Given the description of an element on the screen output the (x, y) to click on. 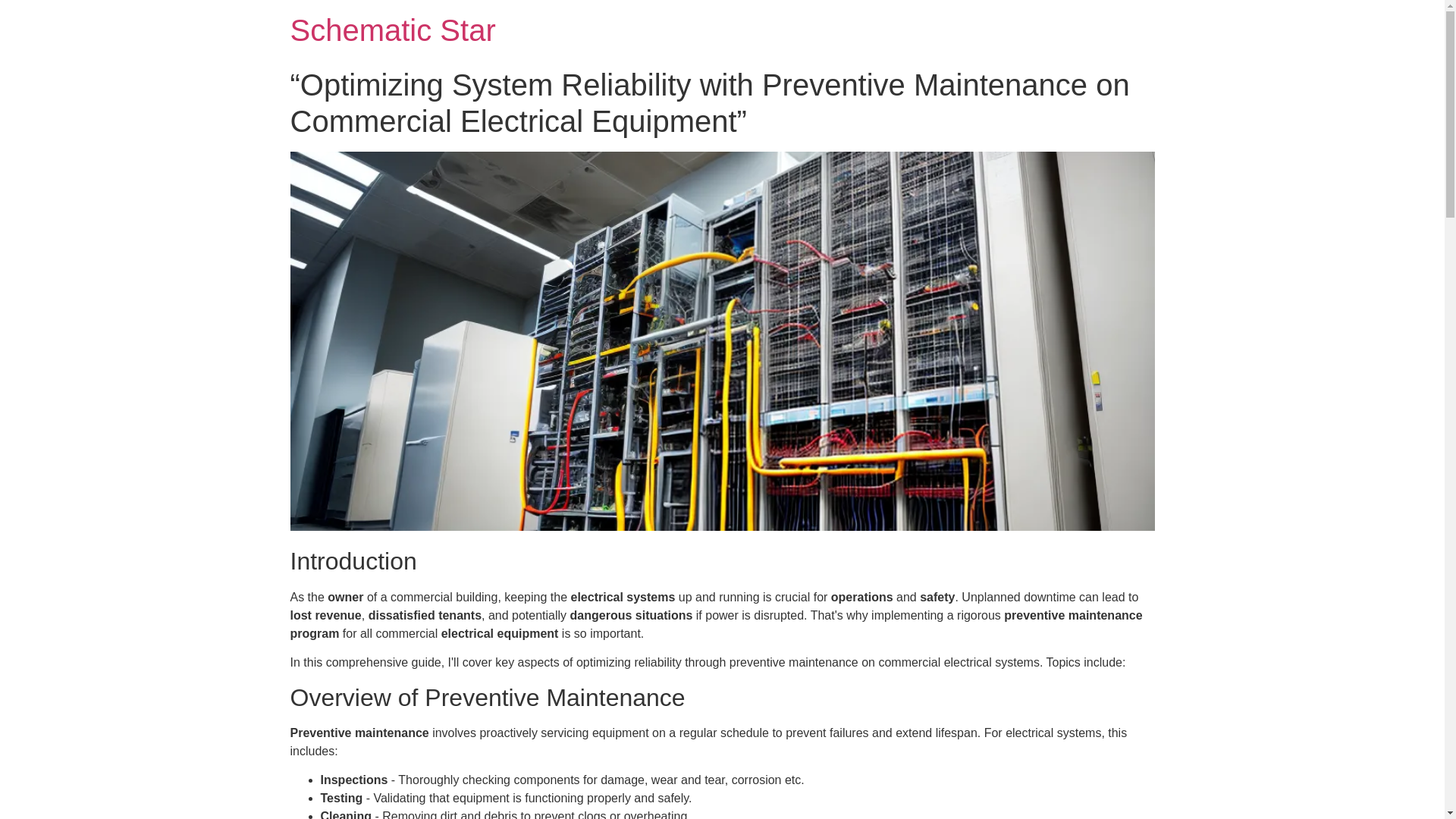
Schematic Star (392, 29)
Home (392, 29)
